Given the description of an element on the screen output the (x, y) to click on. 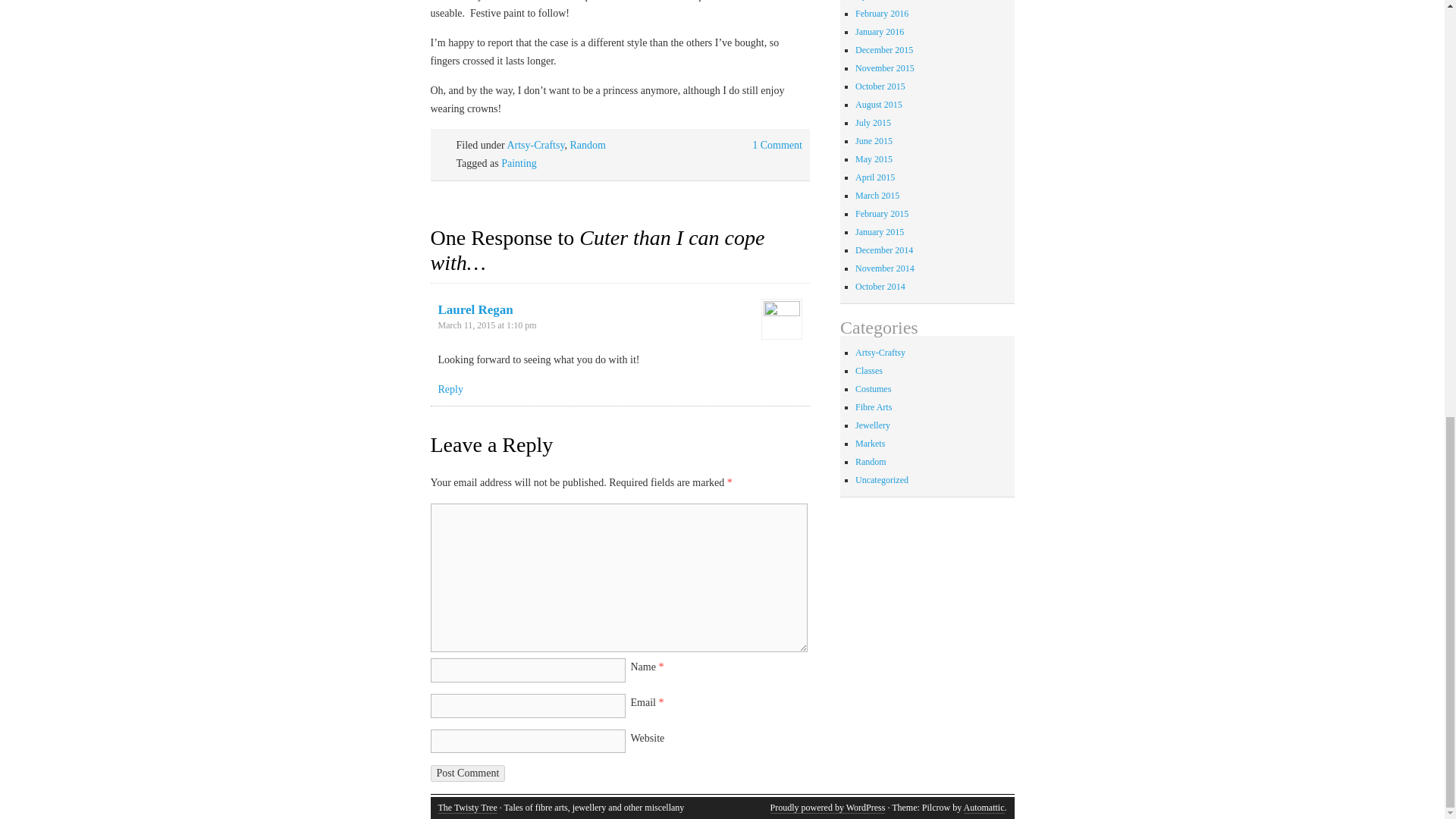
Random (587, 144)
Painting (518, 163)
A Semantic Personal Publishing Platform (827, 808)
Post Comment (467, 773)
Artsy-Craftsy (535, 144)
Post Comment (467, 773)
March 11, 2015 at 1:10 pm (487, 325)
Reply (450, 389)
1 Comment (777, 144)
The Twisty Tree (467, 808)
